Given the description of an element on the screen output the (x, y) to click on. 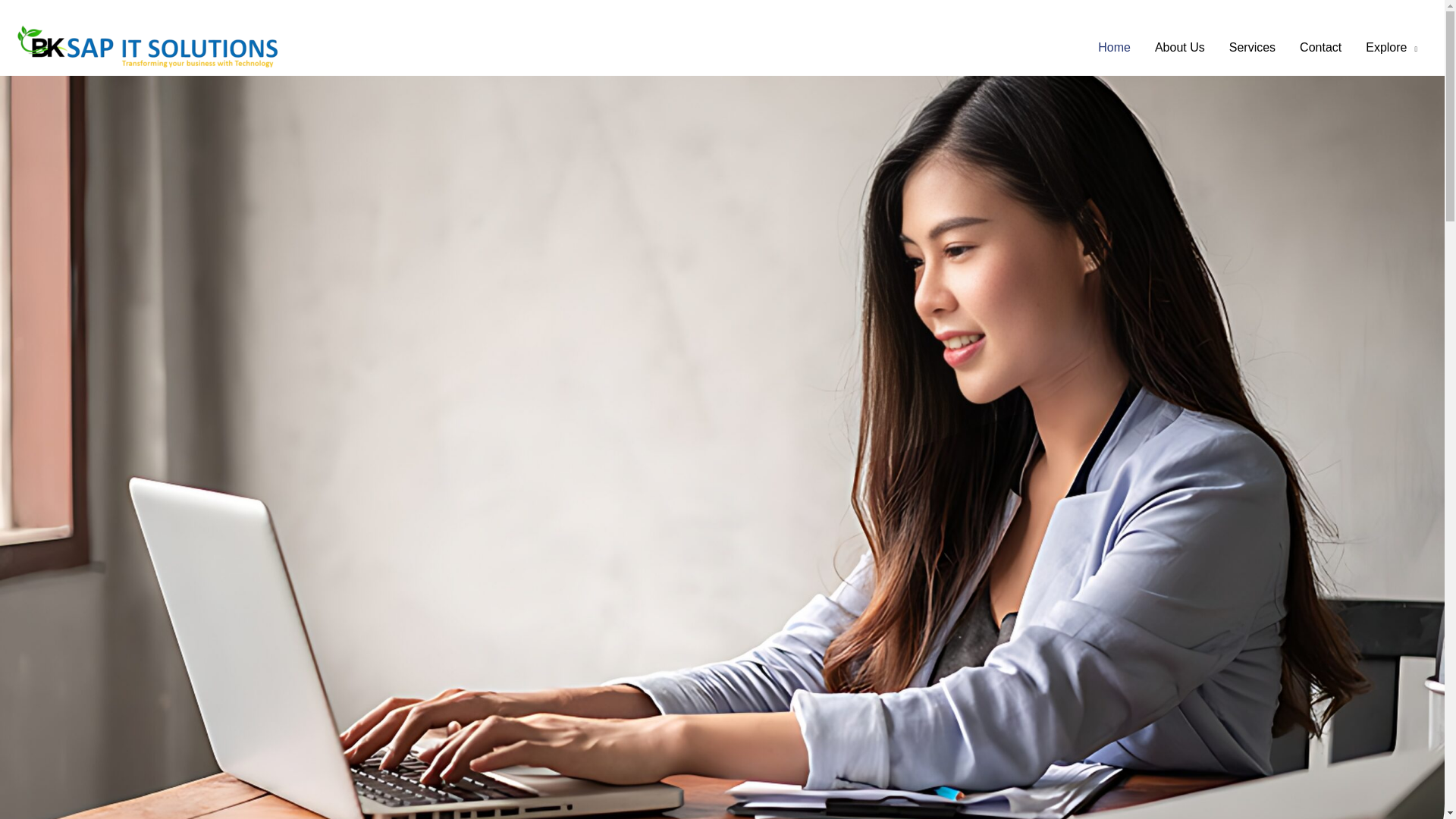
Contact (1320, 47)
Explore (1391, 47)
About Us (1179, 47)
Services (1252, 47)
Home (1114, 47)
